Given the description of an element on the screen output the (x, y) to click on. 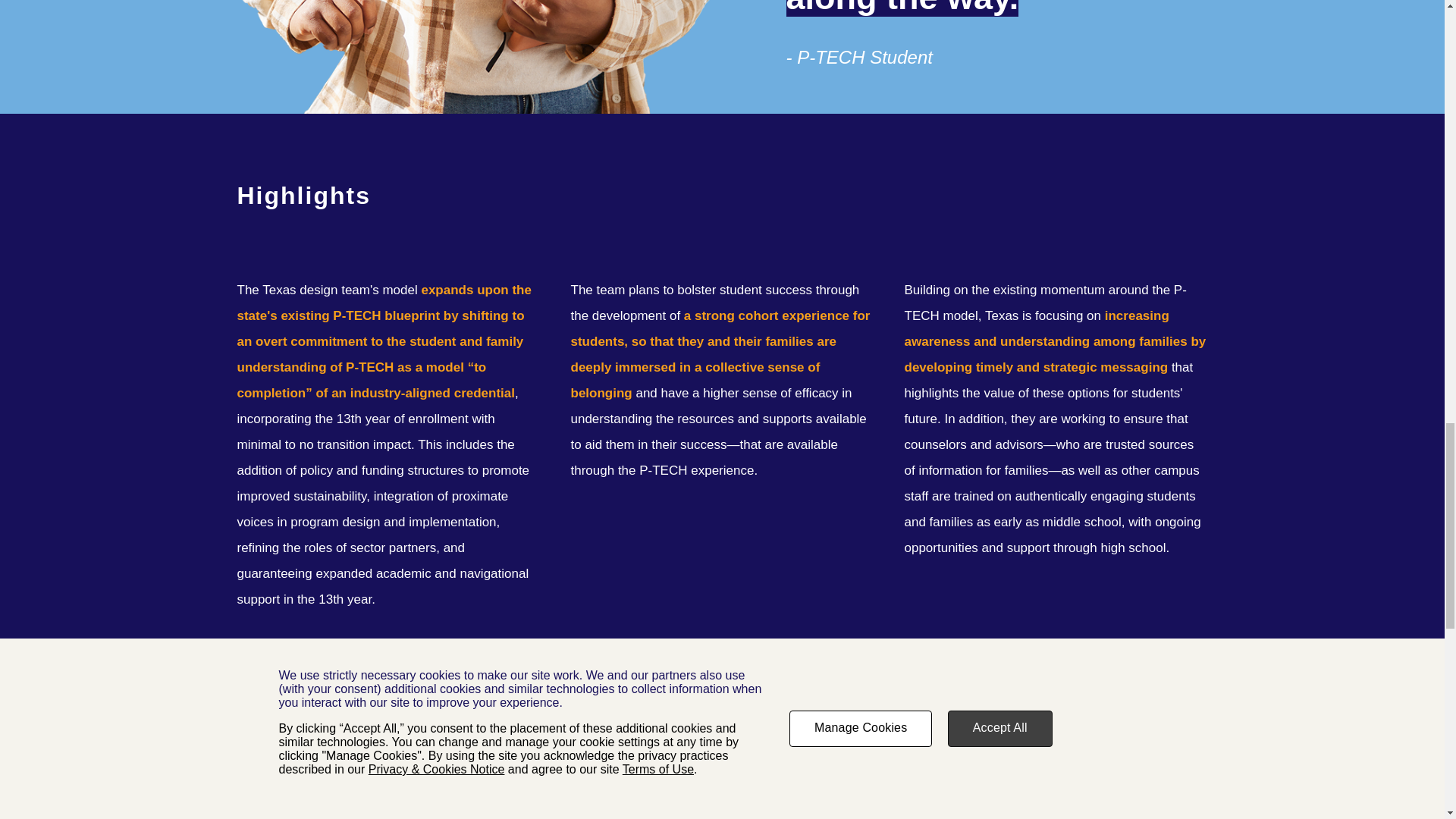
Texas: Accelerate ED Blueprint Presentation (425, 782)
